Given the description of an element on the screen output the (x, y) to click on. 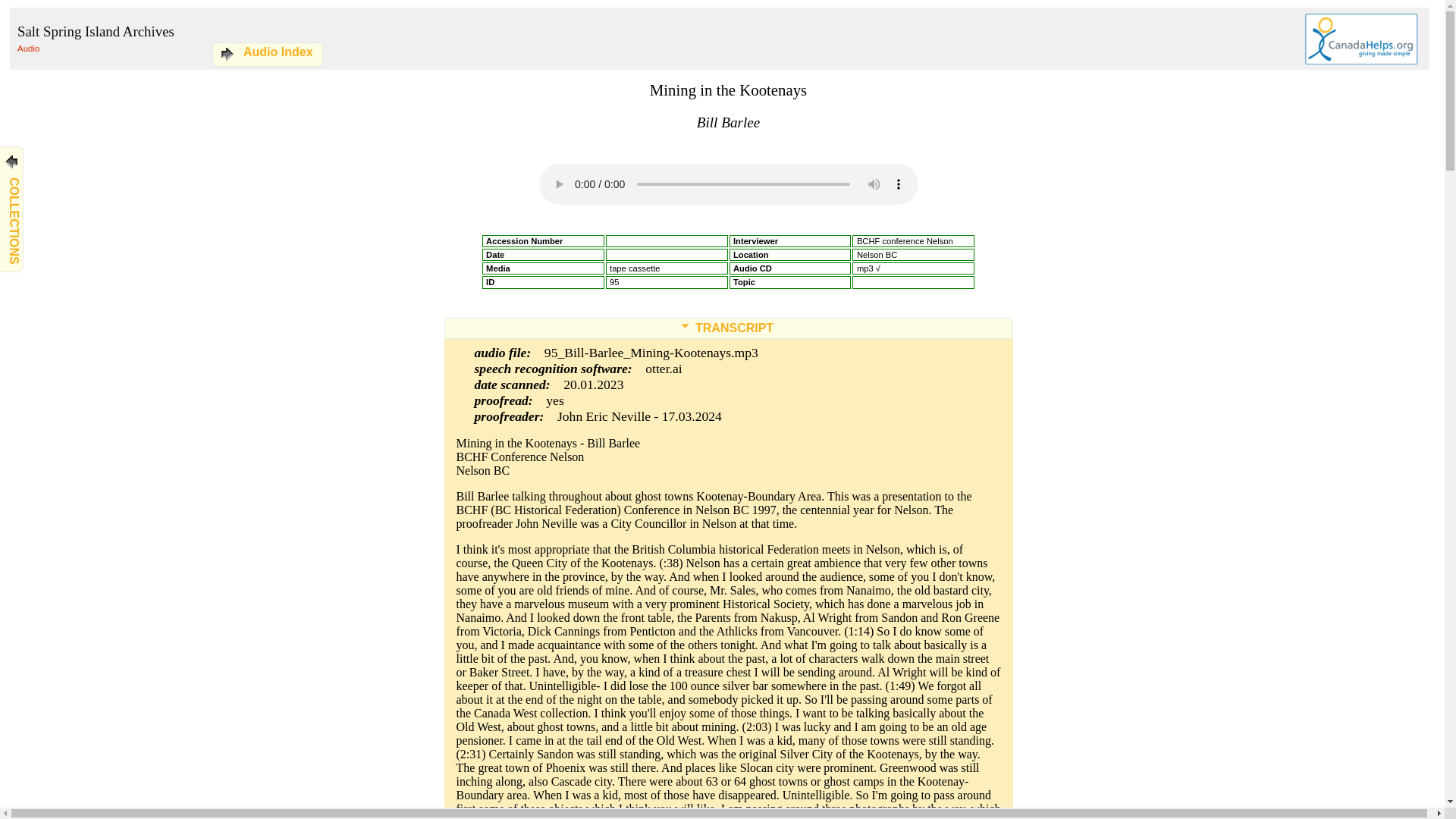
Audio Index (264, 51)
Audio (28, 48)
Salt Spring Island Archives (95, 31)
COLLECTIONS (67, 156)
